Given the description of an element on the screen output the (x, y) to click on. 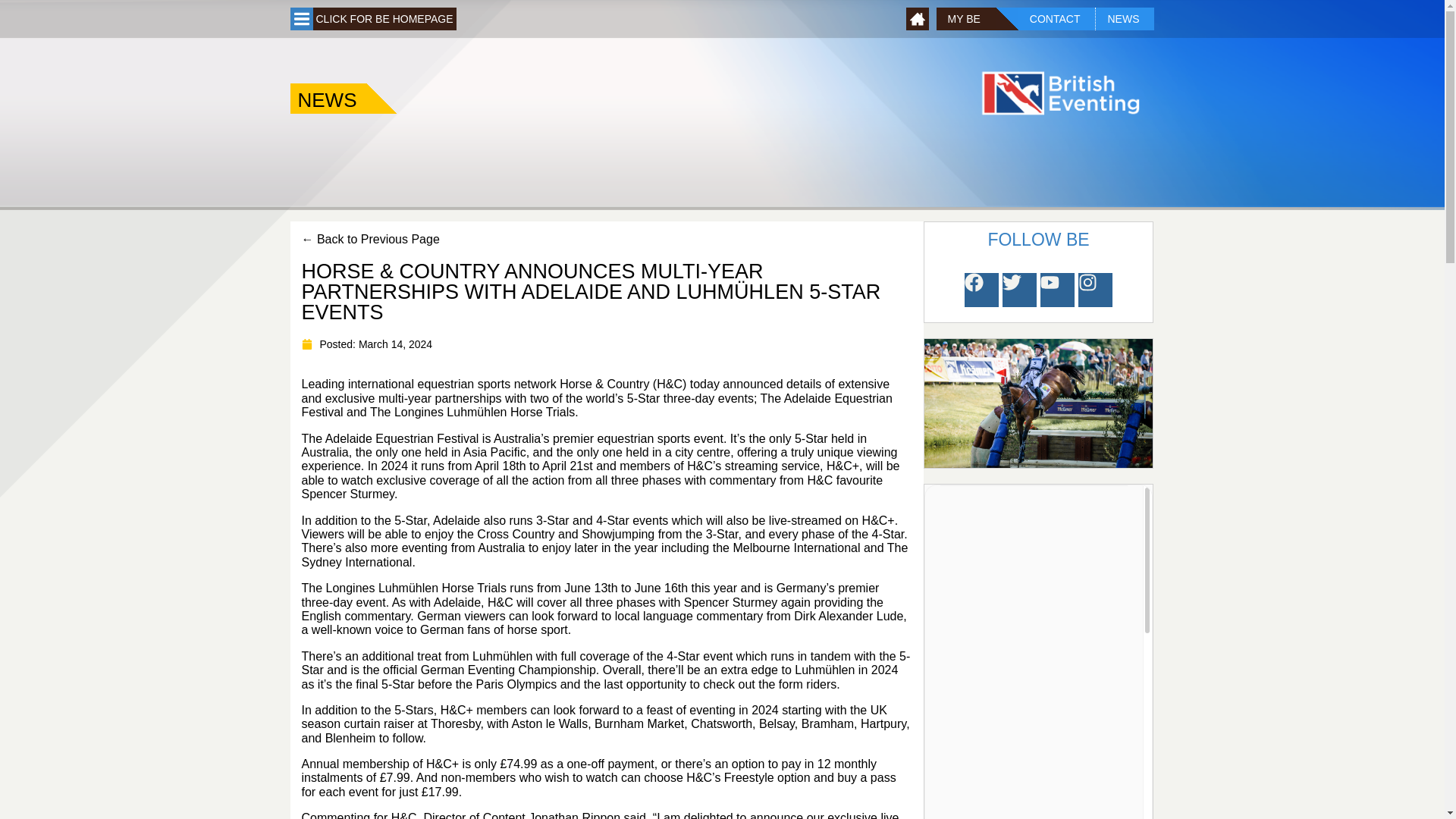
FOLLOW BE (1038, 239)
NEWS (1124, 18)
Posted: March 14, 2024 (366, 344)
NEWS (327, 98)
CLICK FOR BE HOMEPAGE (384, 18)
CONTACT (1056, 18)
MY BE (965, 18)
